Given the description of an element on the screen output the (x, y) to click on. 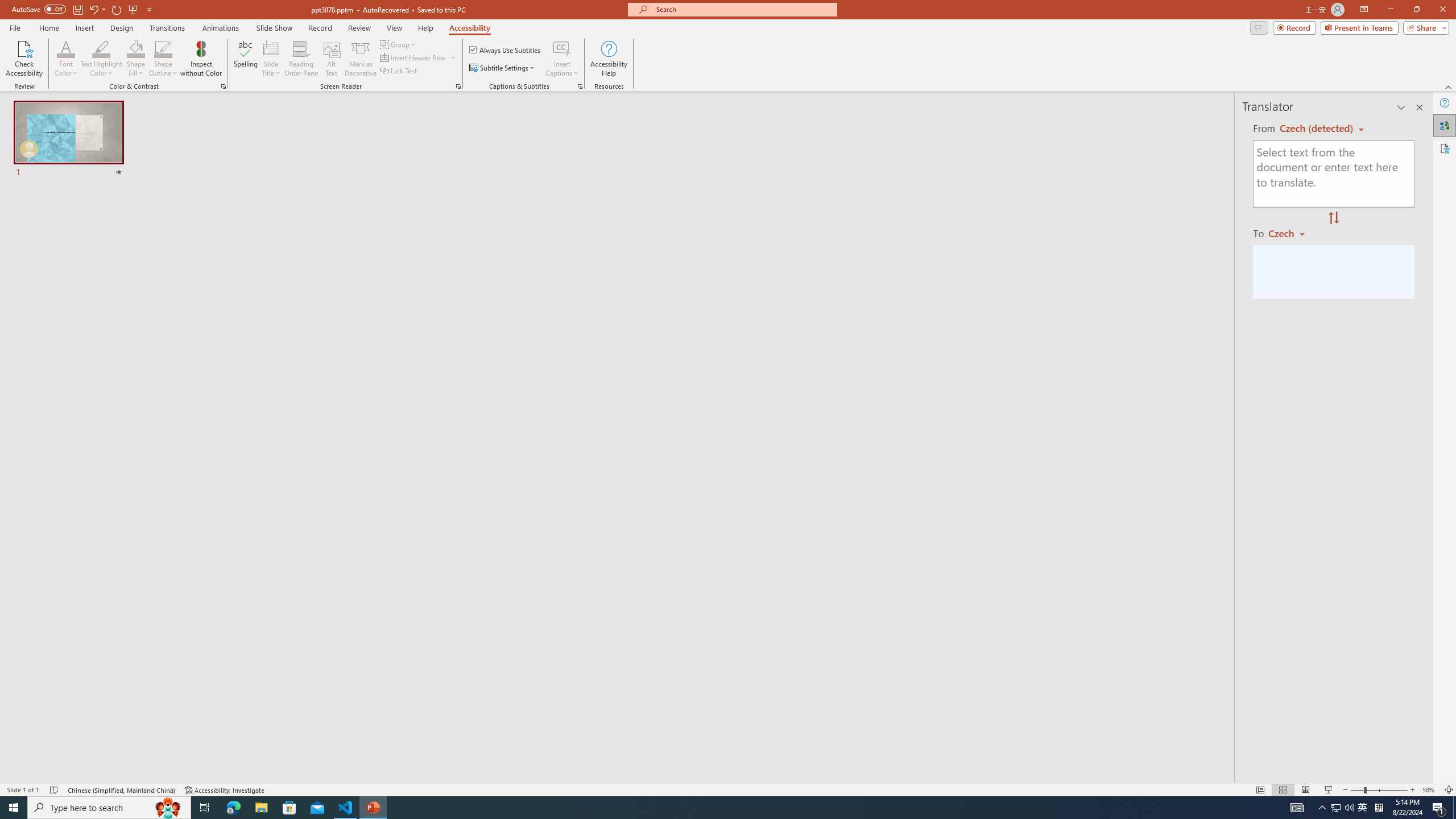
Spelling... (245, 58)
Accessibility Help (608, 58)
Insert Captions (561, 58)
Czech (detected) (1317, 128)
